Given the description of an element on the screen output the (x, y) to click on. 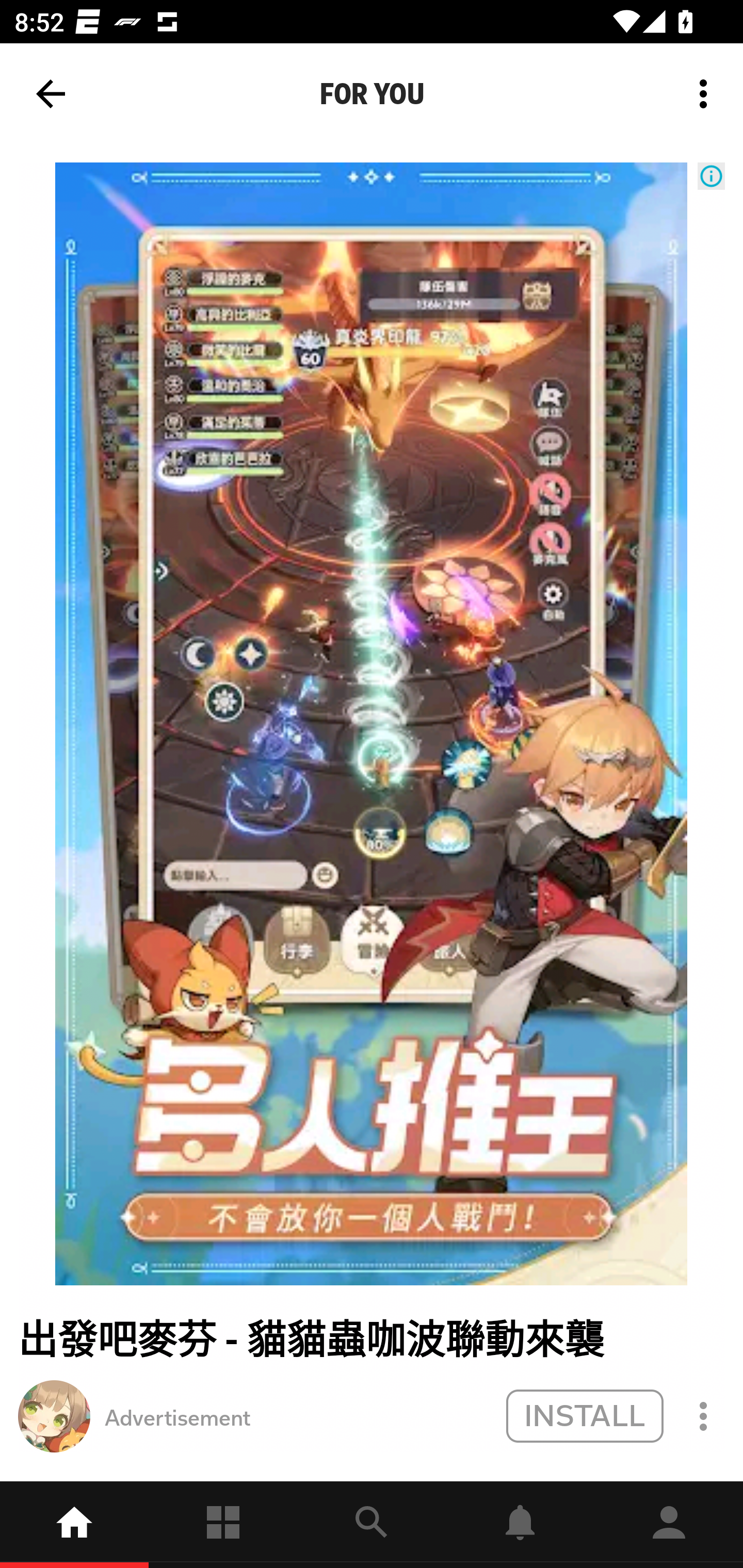
Back (50, 93)
FOR YOU (371, 93)
More options (706, 93)
Ad Choices Icon (711, 176)
INSTALL (584, 1415)
home (74, 1524)
Following (222, 1524)
explore (371, 1524)
Notifications (519, 1524)
Profile (668, 1524)
